Given the description of an element on the screen output the (x, y) to click on. 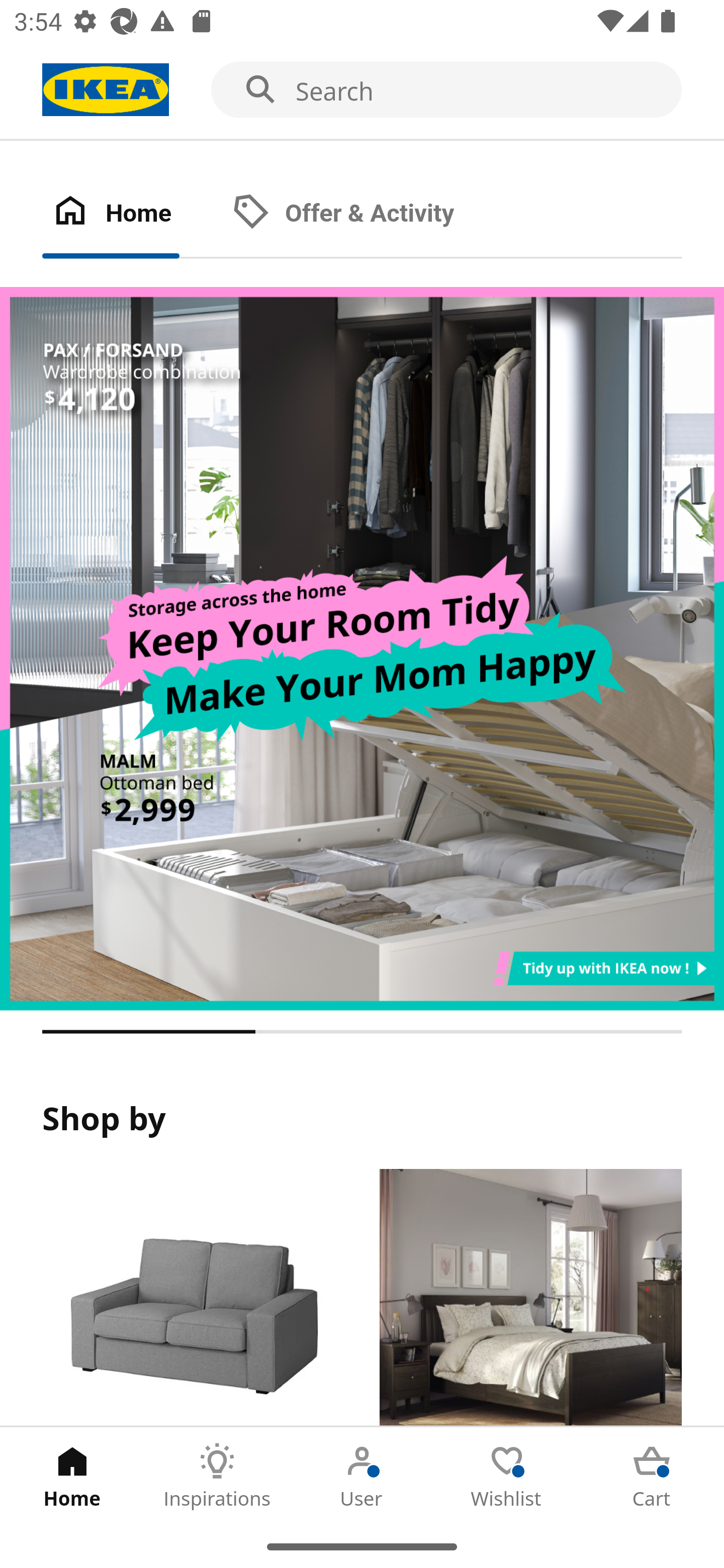
Search (361, 90)
Home
Tab 1 of 2 (131, 213)
Offer & Activity
Tab 2 of 2 (363, 213)
Products (192, 1297)
Rooms (530, 1297)
Home
Tab 1 of 5 (72, 1476)
Inspirations
Tab 2 of 5 (216, 1476)
User
Tab 3 of 5 (361, 1476)
Wishlist
Tab 4 of 5 (506, 1476)
Cart
Tab 5 of 5 (651, 1476)
